Given the description of an element on the screen output the (x, y) to click on. 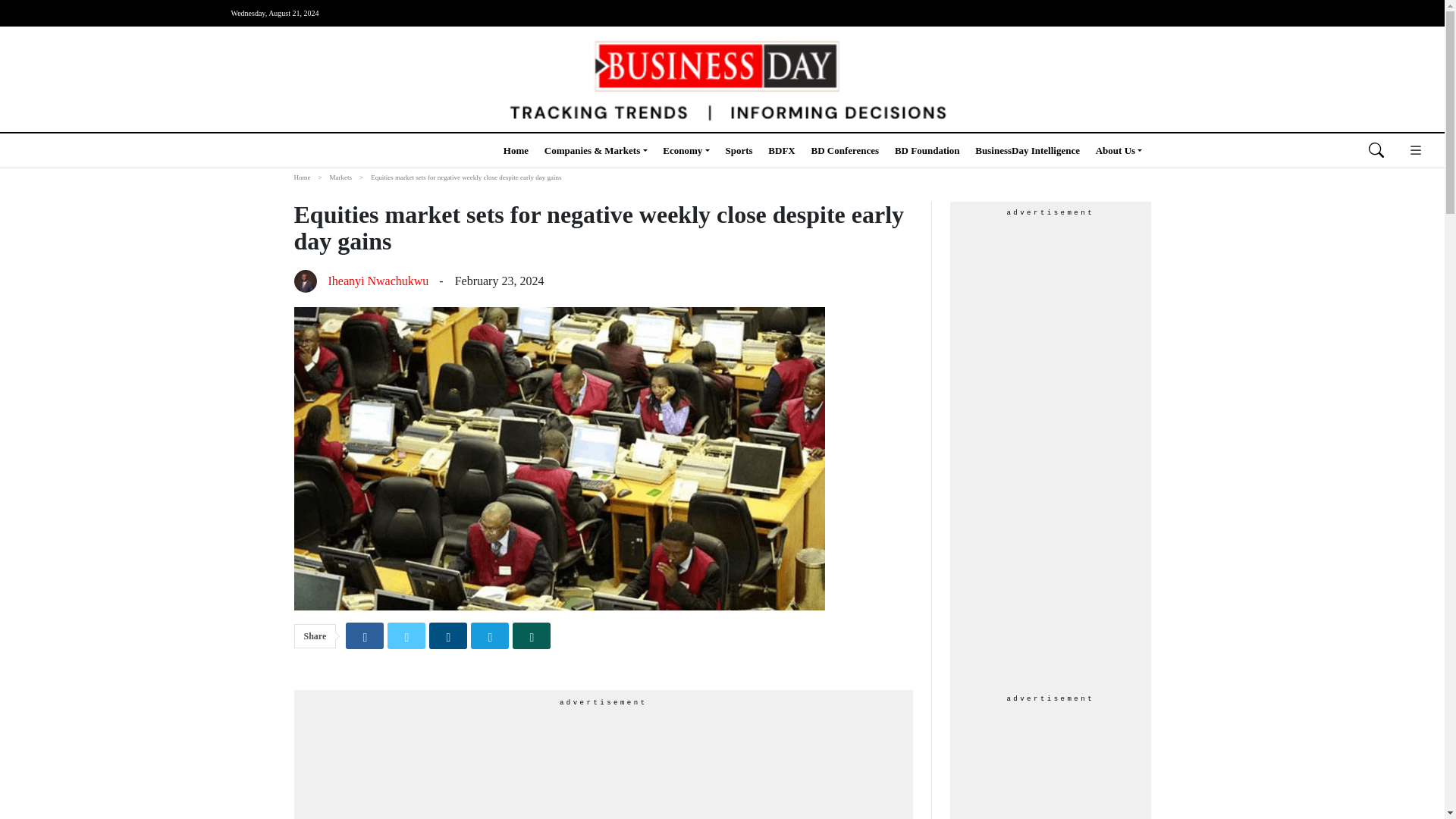
About Us (1119, 149)
BD Foundation (927, 149)
BusinessDay Intelligence (1027, 149)
Economy (685, 149)
BusinessDay Intelligence (1027, 149)
About Us (1119, 149)
BD Conferences (844, 149)
BD Foundation (927, 149)
Economy (685, 149)
BD Conferences (844, 149)
